Given the description of an element on the screen output the (x, y) to click on. 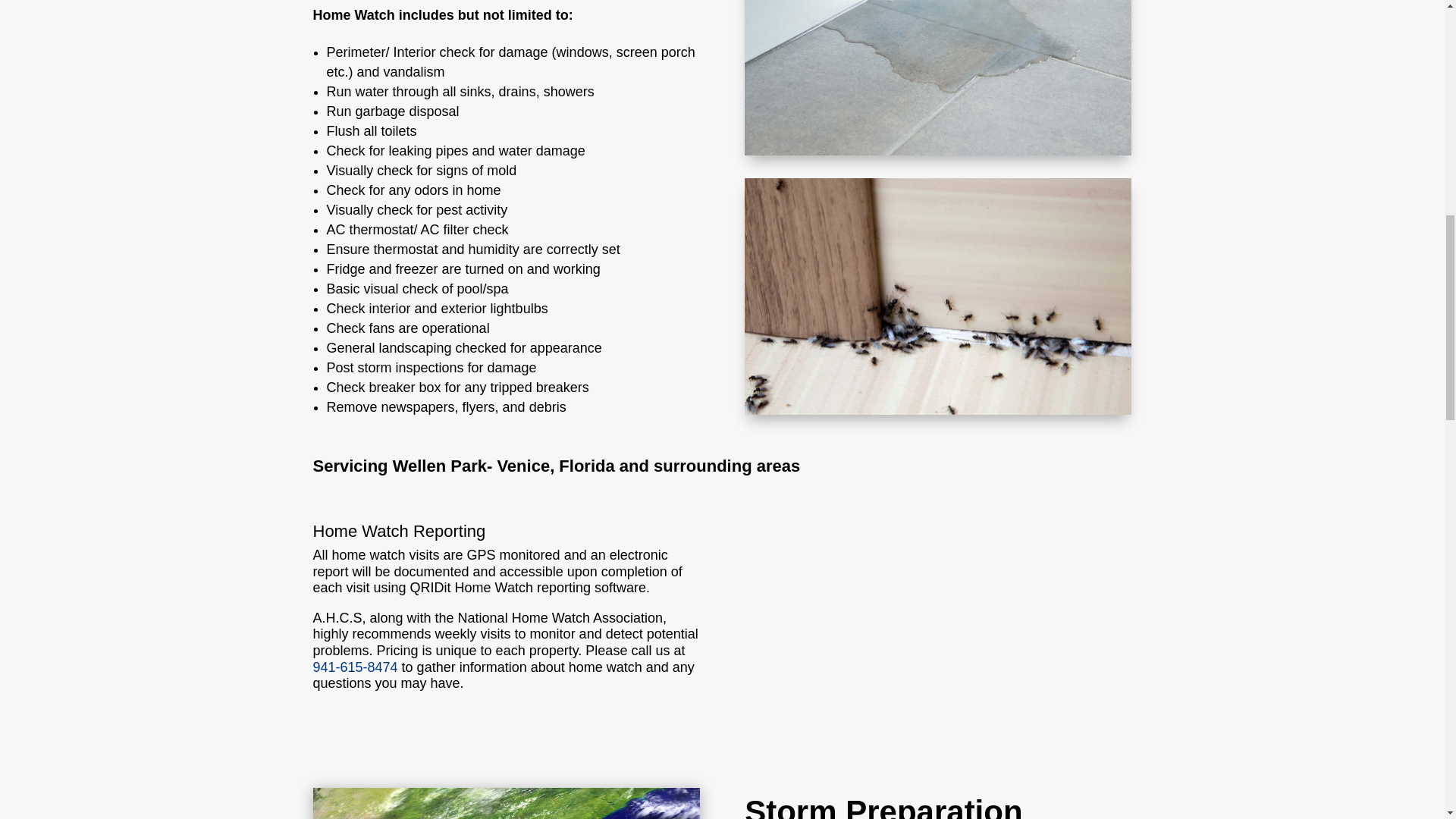
Ants,In,The,House,On,The,Baseboards,And,Wall,Angle (937, 296)
QRIDit Home Watch Edition Client Intro Video (937, 632)
Close-up,Photo,Of,Flooded,Floor,In,Kitchen,From,Water,Leak (937, 77)
941-615-8474 (355, 667)
